Given the description of an element on the screen output the (x, y) to click on. 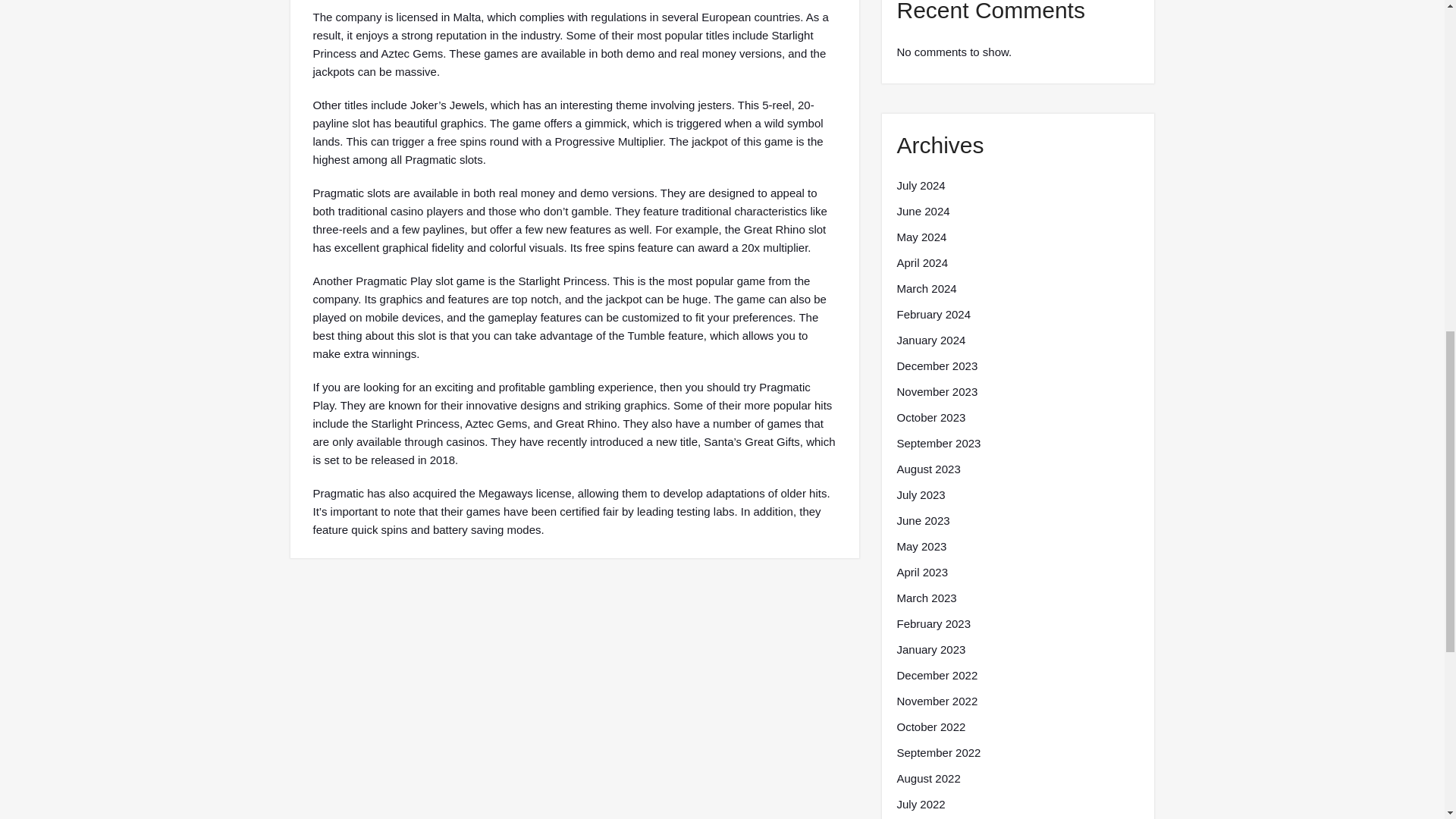
July 2024 (920, 185)
June 2023 (922, 520)
April 2023 (921, 572)
October 2022 (930, 727)
March 2024 (926, 289)
November 2023 (936, 392)
January 2024 (930, 340)
February 2024 (933, 314)
September 2022 (937, 752)
September 2023 (937, 443)
August 2023 (927, 469)
February 2023 (933, 624)
July 2023 (920, 495)
October 2023 (930, 417)
May 2024 (921, 237)
